Given the description of an element on the screen output the (x, y) to click on. 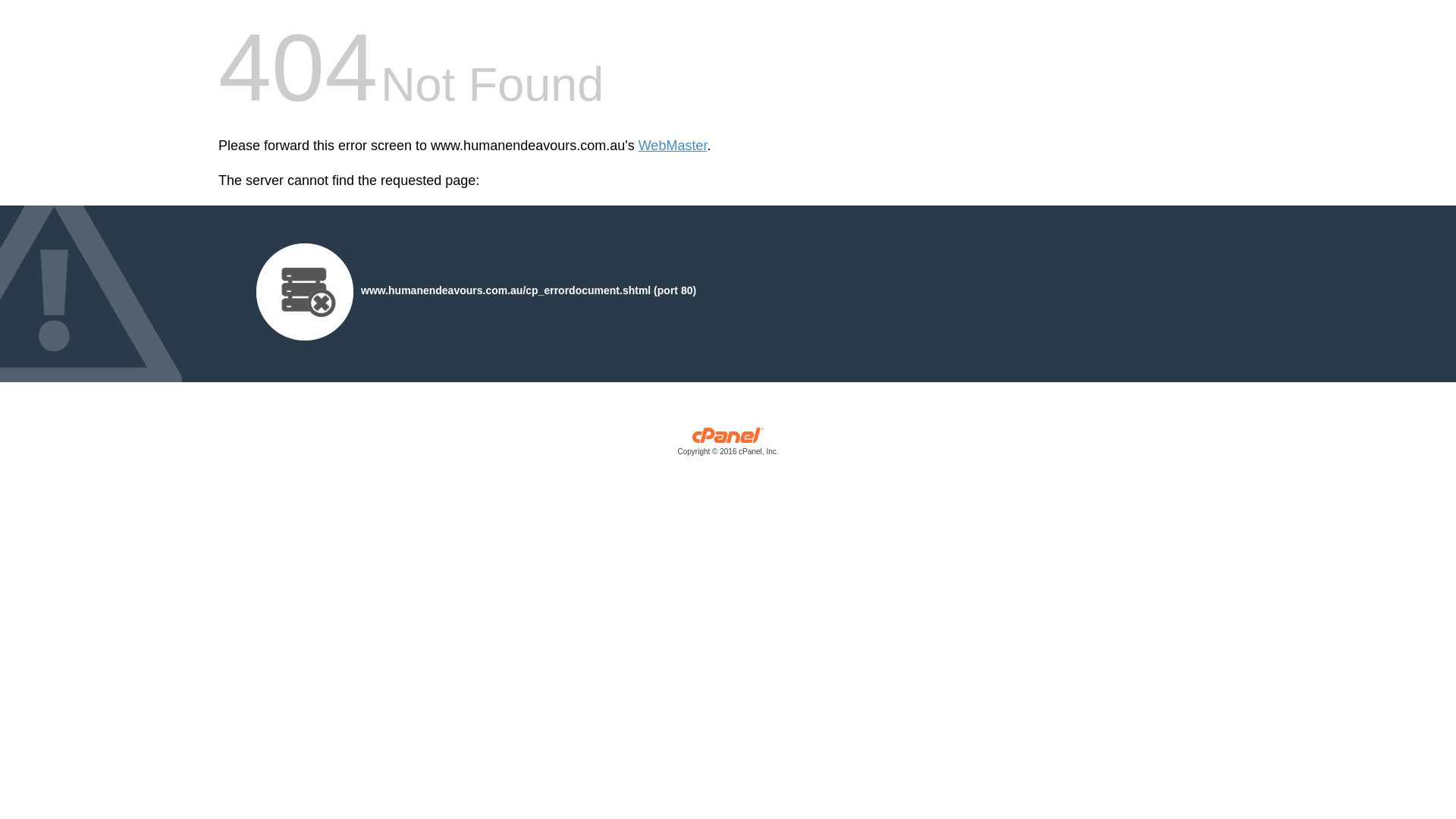
WebMaster Element type: text (672, 145)
